Given the description of an element on the screen output the (x, y) to click on. 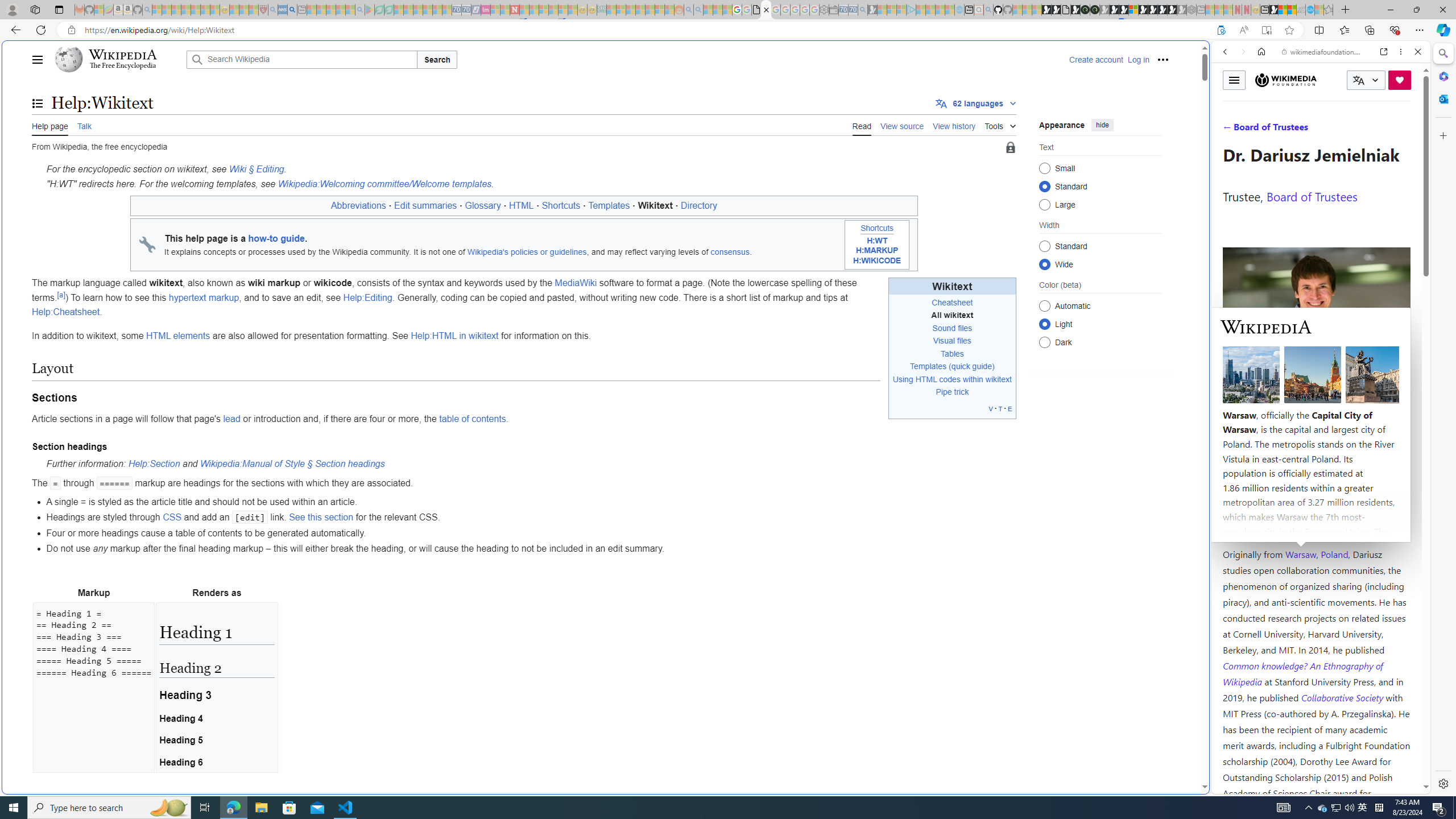
Search Filter, Search Tools (1350, 129)
Class: mw-list-item mw-list-item-js (1100, 323)
SEARCH TOOLS (1350, 130)
The Weather Channel - MSN - Sleeping (175, 9)
New tab - Sleeping (1200, 9)
e (1009, 408)
Donate now (1399, 80)
Using HTML codes within wikitext (951, 379)
